Given the description of an element on the screen output the (x, y) to click on. 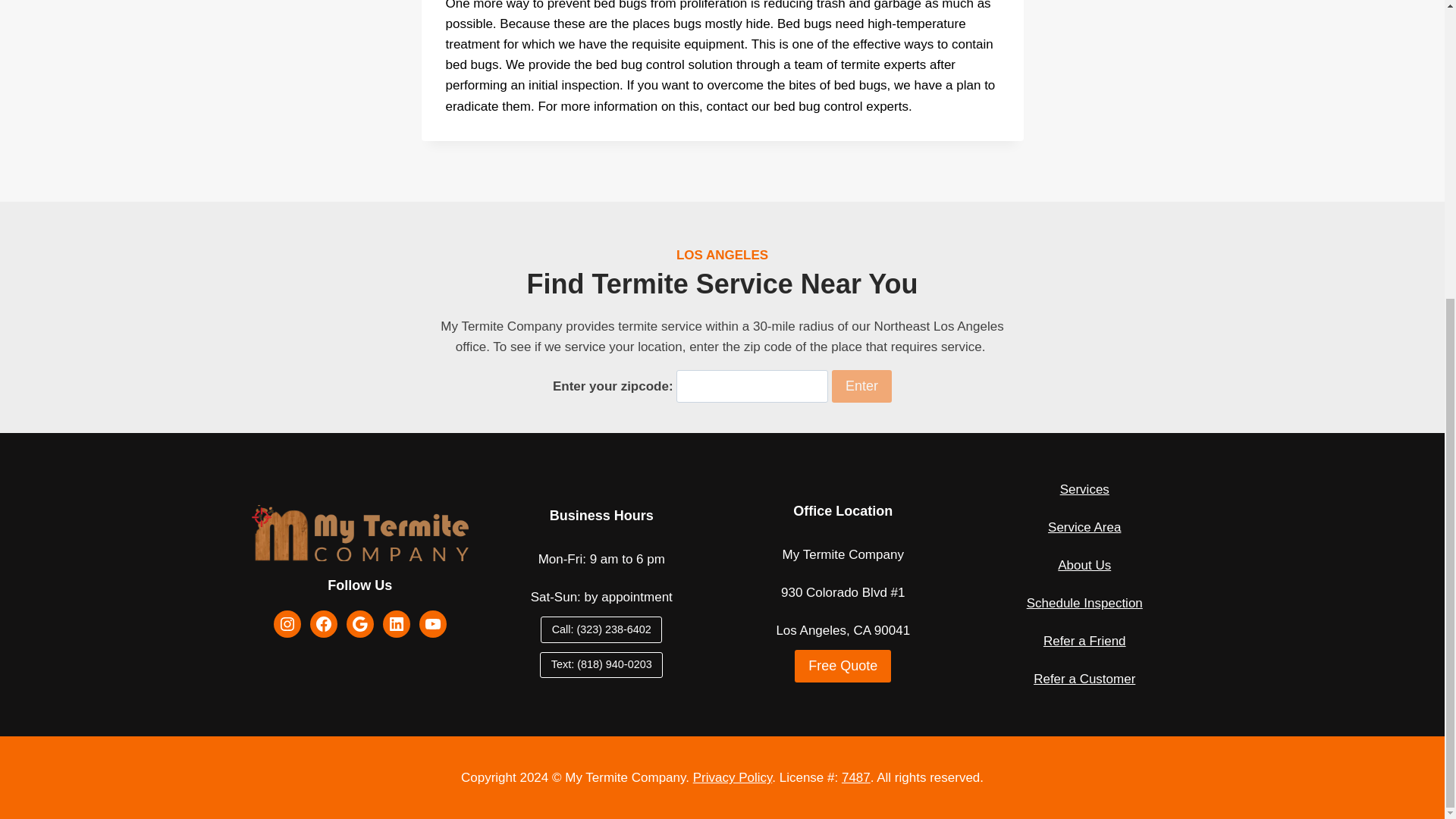
Enter (861, 386)
Enter (861, 386)
